Given the description of an element on the screen output the (x, y) to click on. 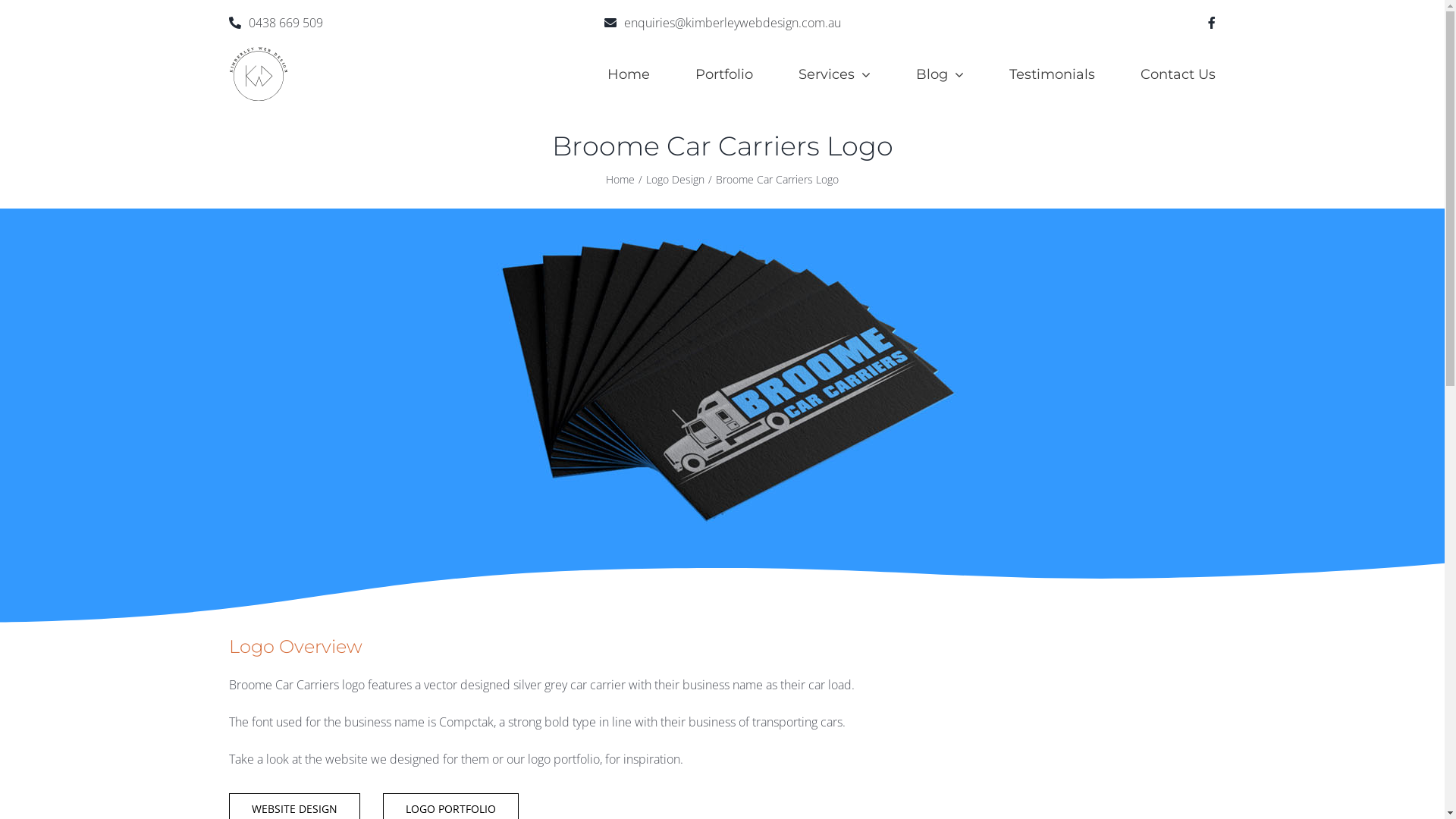
Services Element type: text (834, 74)
enquiries@kimberleywebdesign.com.au Element type: text (721, 22)
Facebook Element type: hover (1211, 22)
Broome-car-carriers-logo-website Element type: hover (721, 385)
Blog Element type: text (939, 74)
Logo Design Element type: text (675, 179)
0438 669 509 Element type: text (276, 22)
Testimonials Element type: text (1052, 74)
Home Element type: text (628, 74)
Portfolio Element type: text (724, 74)
Contact Us Element type: text (1177, 74)
Home Element type: text (619, 179)
